Given the description of an element on the screen output the (x, y) to click on. 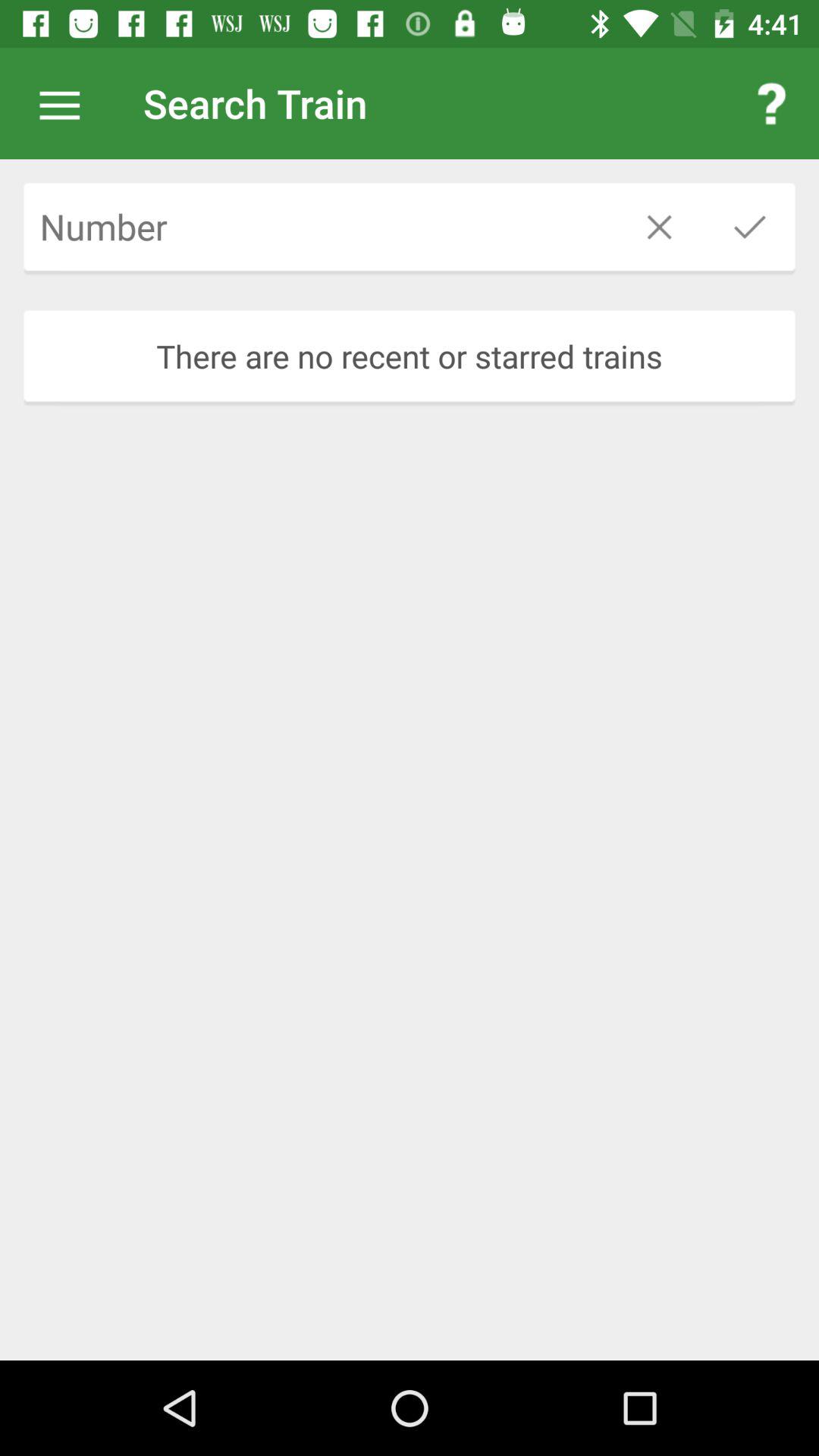
jump until there are no item (409, 355)
